Given the description of an element on the screen output the (x, y) to click on. 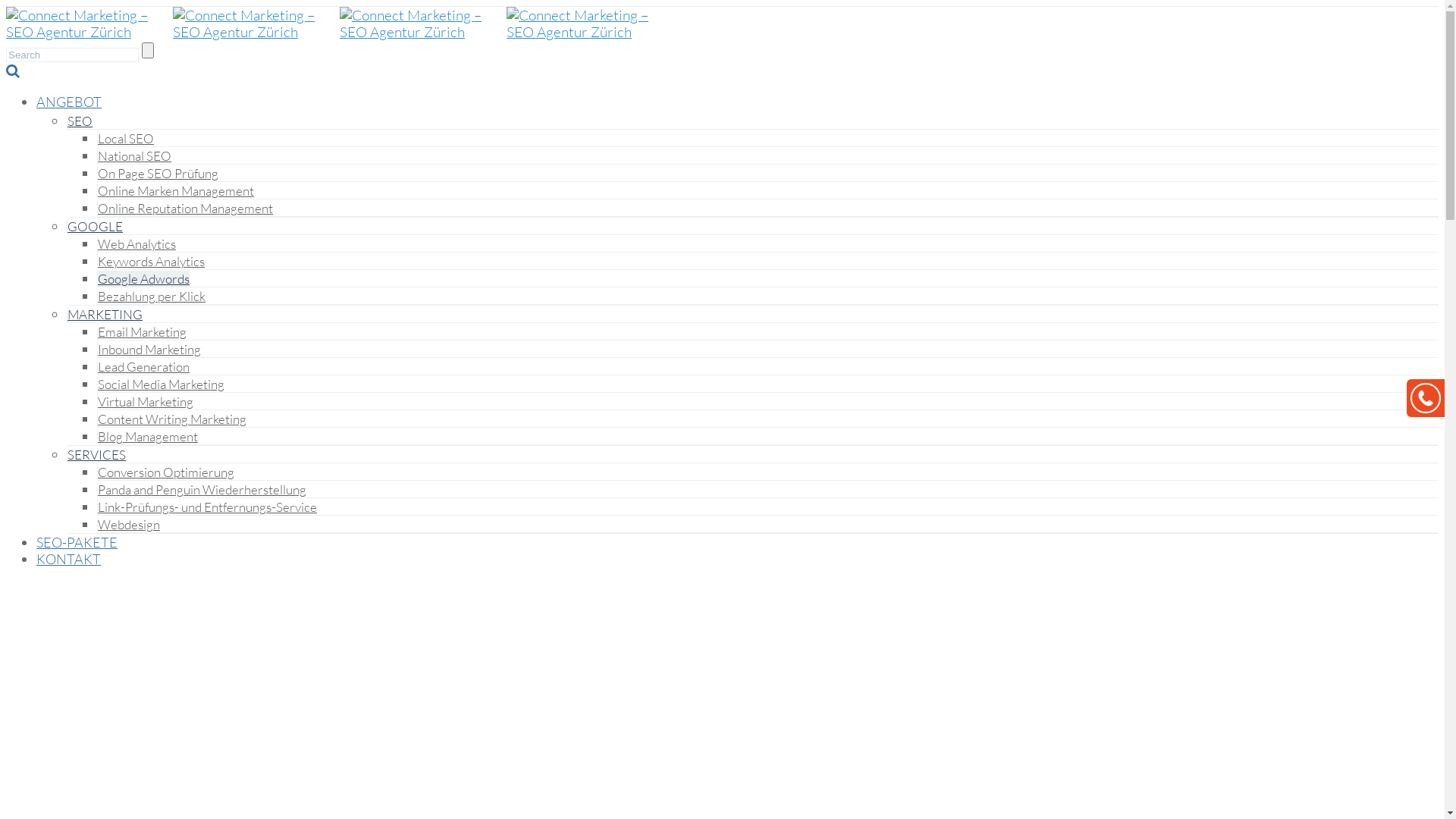
Bezahlung per Klick Element type: text (151, 296)
Online Marken Management Element type: text (175, 190)
SEO-PAKETE Element type: text (76, 541)
Local SEO Element type: text (125, 138)
Online Reputation Management Element type: text (185, 208)
ANGEBOT Element type: text (68, 101)
Social Media Marketing Element type: text (160, 384)
Content Writing Marketing Element type: text (171, 418)
Webdesign Element type: text (128, 524)
Google Adwords Element type: text (143, 278)
Virtual Marketing Element type: text (145, 401)
GOOGLE Element type: text (94, 226)
Keywords Analytics Element type: text (150, 261)
MARKETING Element type: text (104, 314)
Blog Management Element type: text (147, 436)
Panda and Penguin Wiederherstellung Element type: text (201, 489)
SEO Element type: text (79, 120)
Web Analytics Element type: text (136, 243)
National SEO Element type: text (134, 155)
Conversion Optimierung Element type: text (165, 472)
SERVICES Element type: text (95, 454)
Lead Generation Element type: text (143, 366)
Email Marketing Element type: text (141, 331)
KONTAKT Element type: text (68, 558)
Inbound Marketing Element type: text (148, 349)
